Given the description of an element on the screen output the (x, y) to click on. 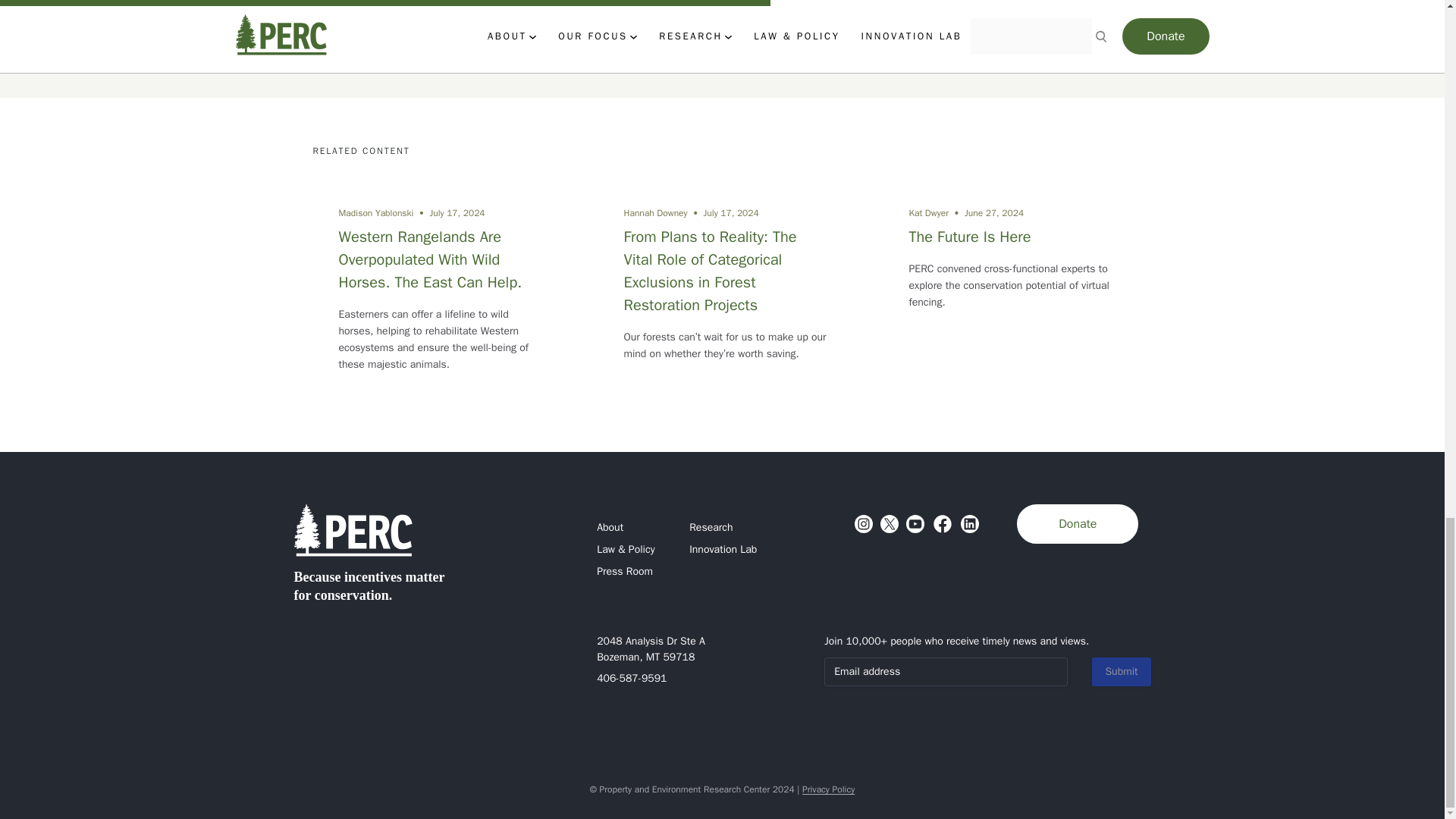
Submit (1121, 671)
